Given the description of an element on the screen output the (x, y) to click on. 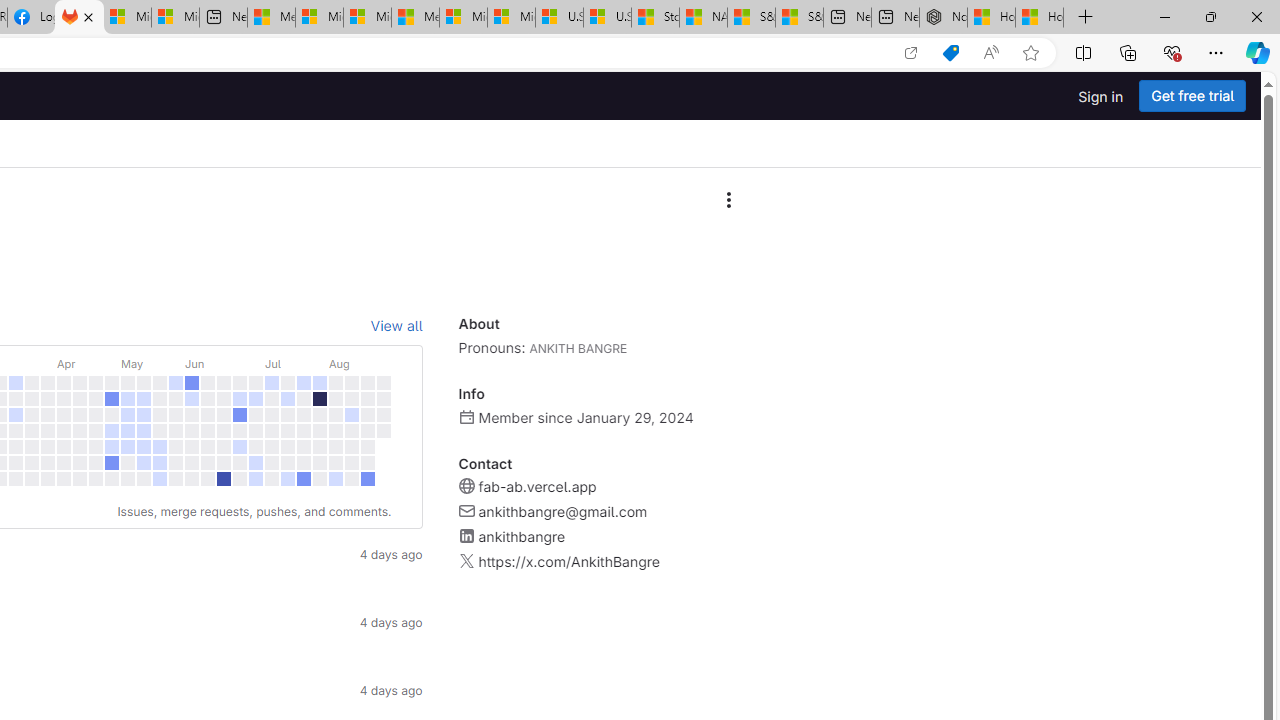
fab-ab.vercel.app (536, 486)
View all (395, 325)
